Given the description of an element on the screen output the (x, y) to click on. 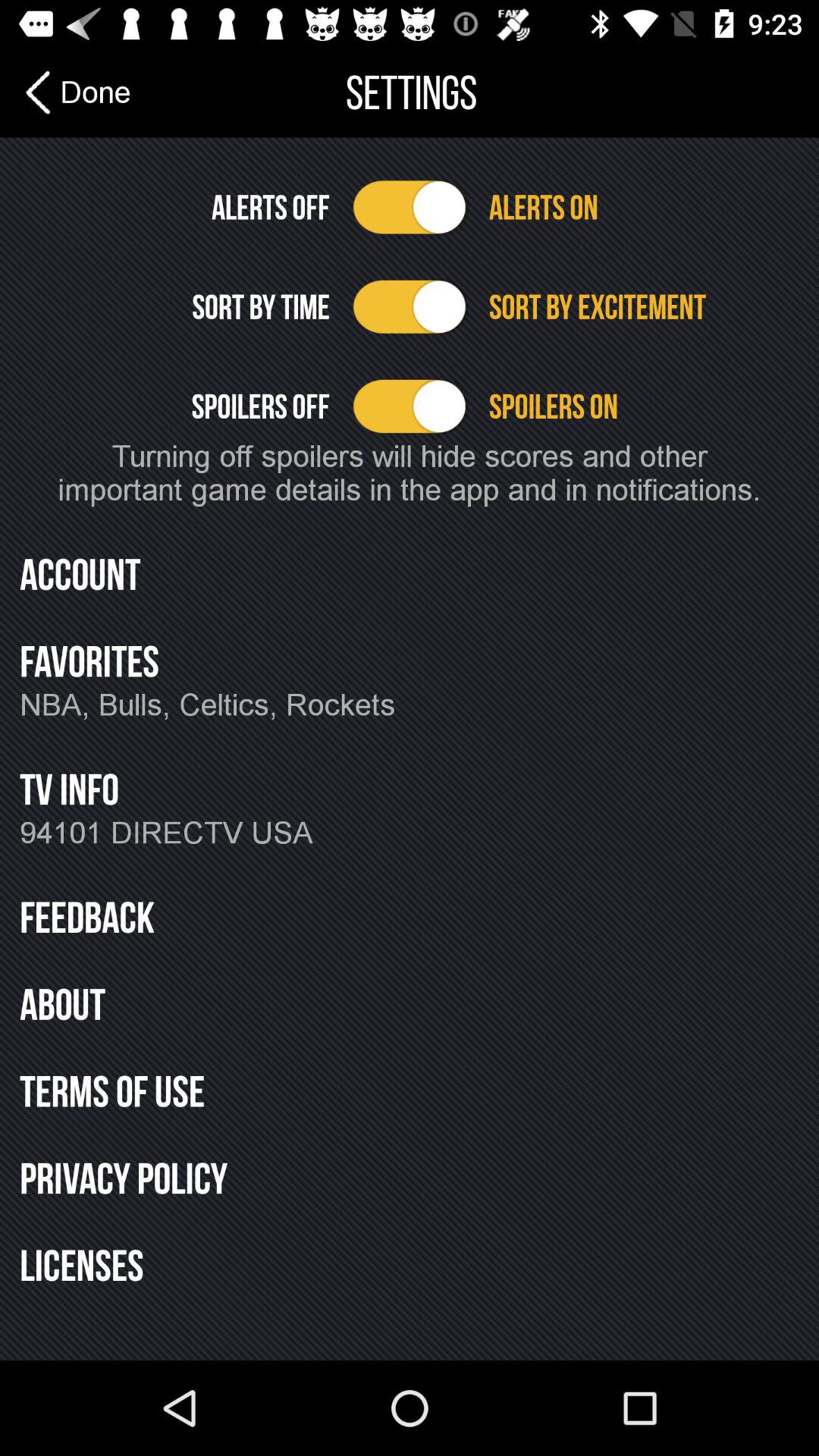
toggle sort by time/excitement (409, 306)
